Given the description of an element on the screen output the (x, y) to click on. 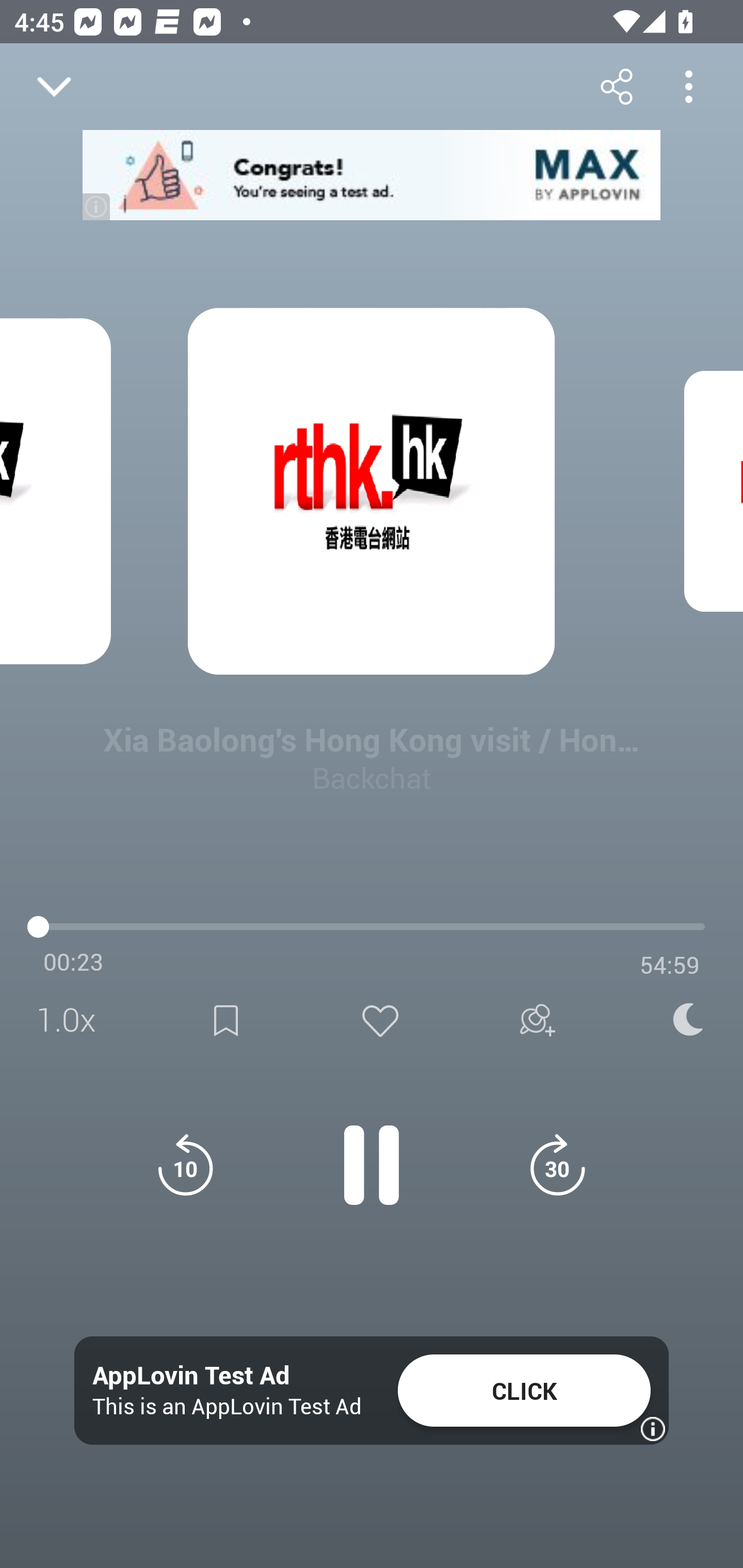
Close fullscreen player (54, 86)
Share (616, 86)
More options (688, 86)
app-monetization (371, 175)
(i) (96, 206)
Backchat (371, 776)
Open series Backchat (93, 994)
54:59 (669, 964)
1.0x Speed (72, 1020)
Like (380, 1020)
Pause button (371, 1153)
Jump back (185, 1164)
Jump forward (557, 1164)
CLICK (523, 1390)
AppLovin Test Ad (191, 1375)
This is an AppLovin Test Ad (226, 1406)
